Given the description of an element on the screen output the (x, y) to click on. 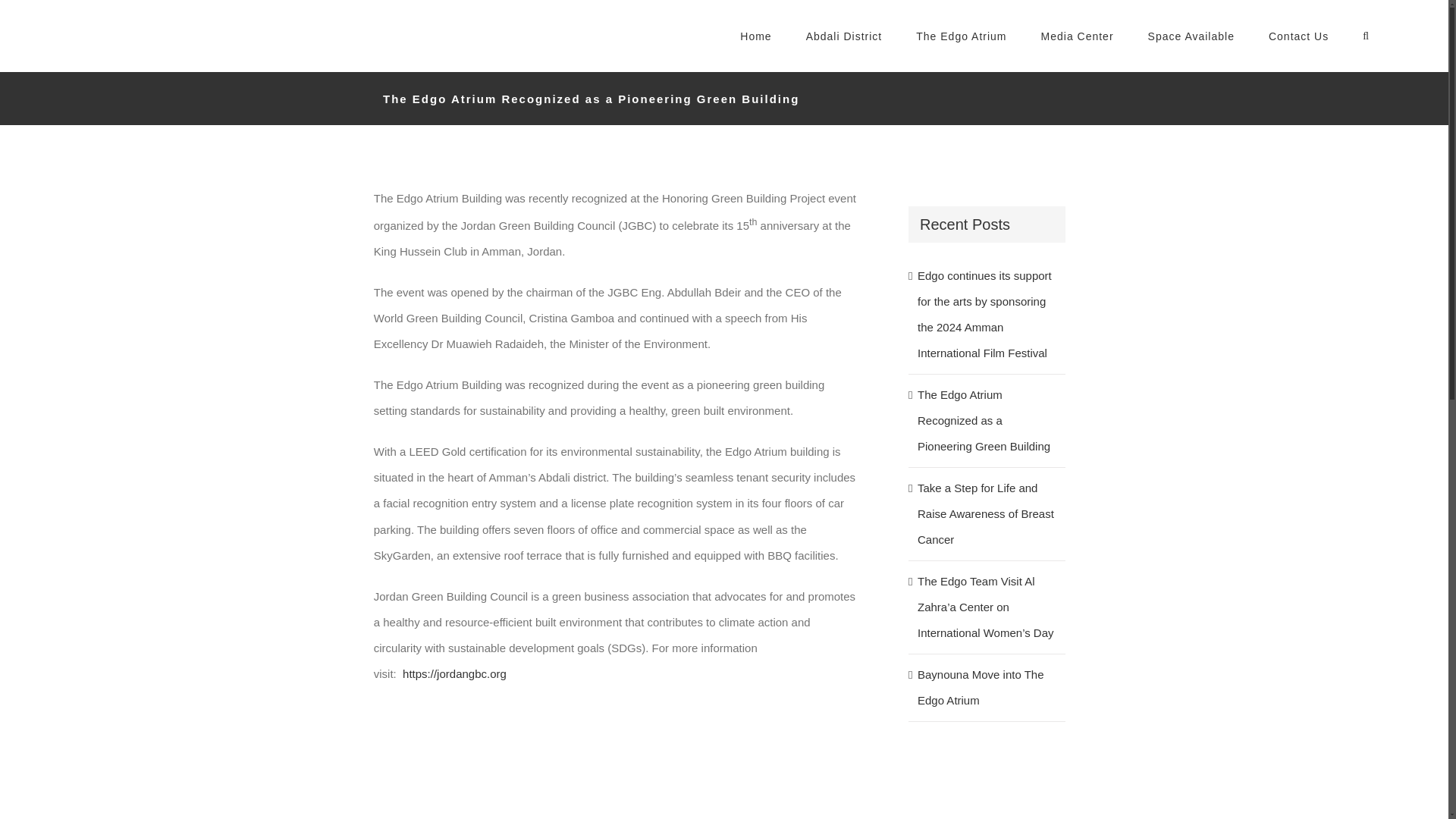
Abdali District (844, 36)
EAB-Green-Building1 (487, 768)
Media Center (1077, 36)
The Edgo Atrium Recognized as a Pioneering Green Building (983, 420)
The Edgo Atrium (960, 36)
Take a Step for Life and Raise Awareness of Breast Cancer (985, 513)
Space Available (1191, 36)
Baynouna Move into The Edgo Atrium (980, 687)
